Given the description of an element on the screen output the (x, y) to click on. 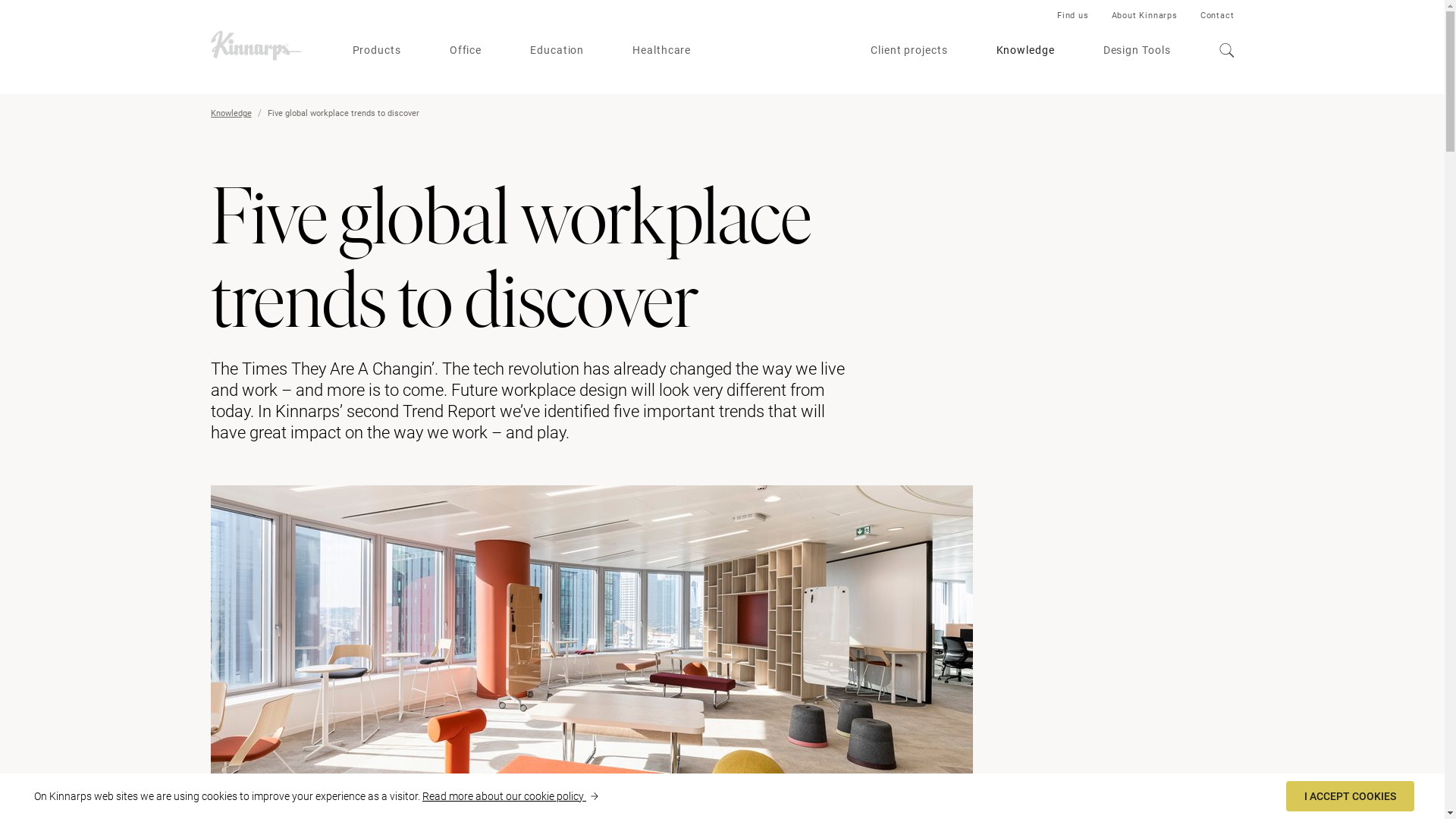
Education Element type: text (556, 50)
About Kinnarps Element type: text (1144, 15)
Knowledge Element type: text (1025, 50)
Knowledge Element type: text (230, 113)
Client projects Element type: text (908, 50)
Contact Element type: text (1217, 15)
Read more about our cookie policy Element type: text (510, 796)
Find us Element type: text (1072, 15)
I ACCEPT COOKIES Element type: text (1350, 796)
Design Tools Element type: text (1136, 50)
Products Element type: text (375, 50)
Office Element type: text (465, 50)
Healthcare Element type: text (661, 50)
